Given the description of an element on the screen output the (x, y) to click on. 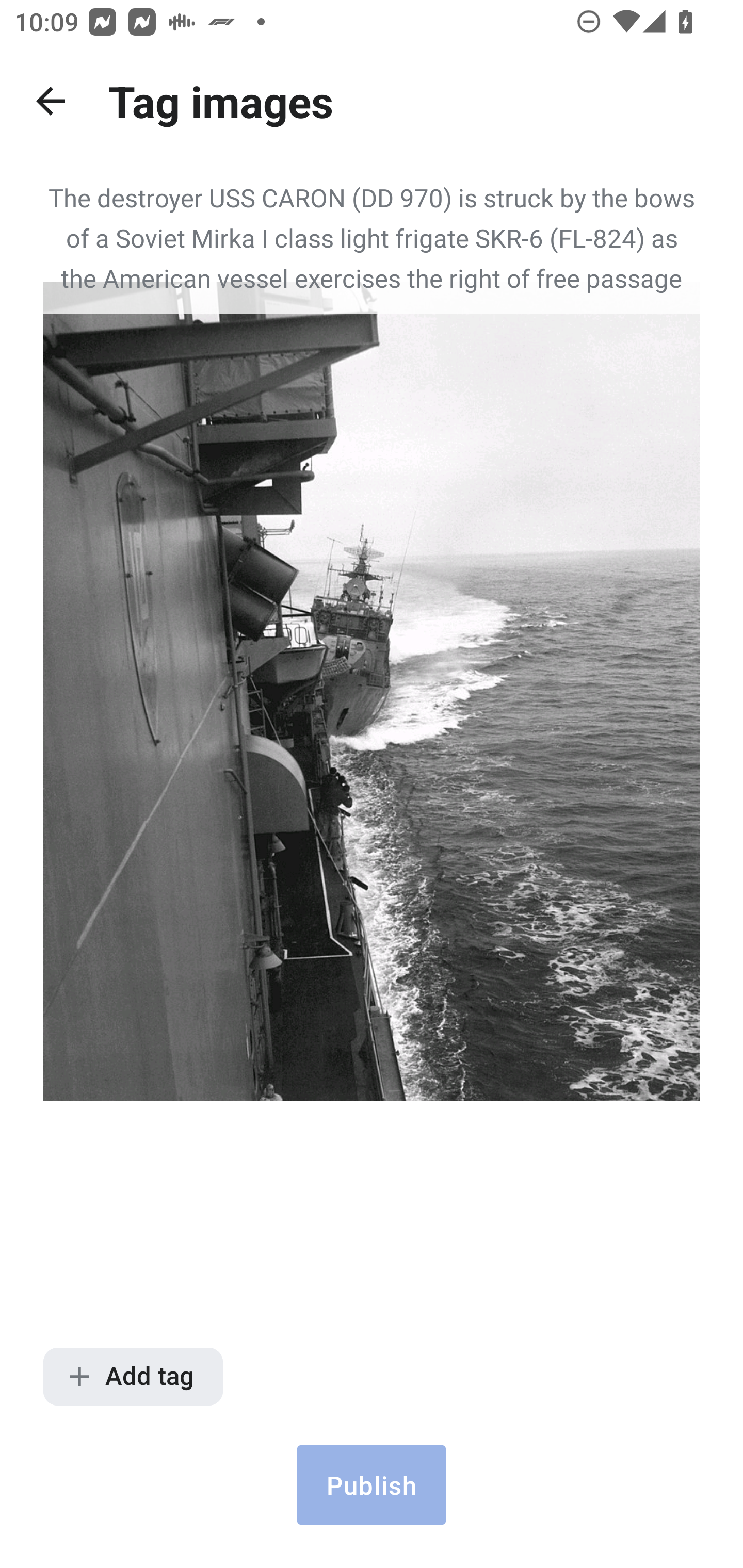
Navigate up (50, 101)
Add tag (132, 1376)
Publish (371, 1484)
